Given the description of an element on the screen output the (x, y) to click on. 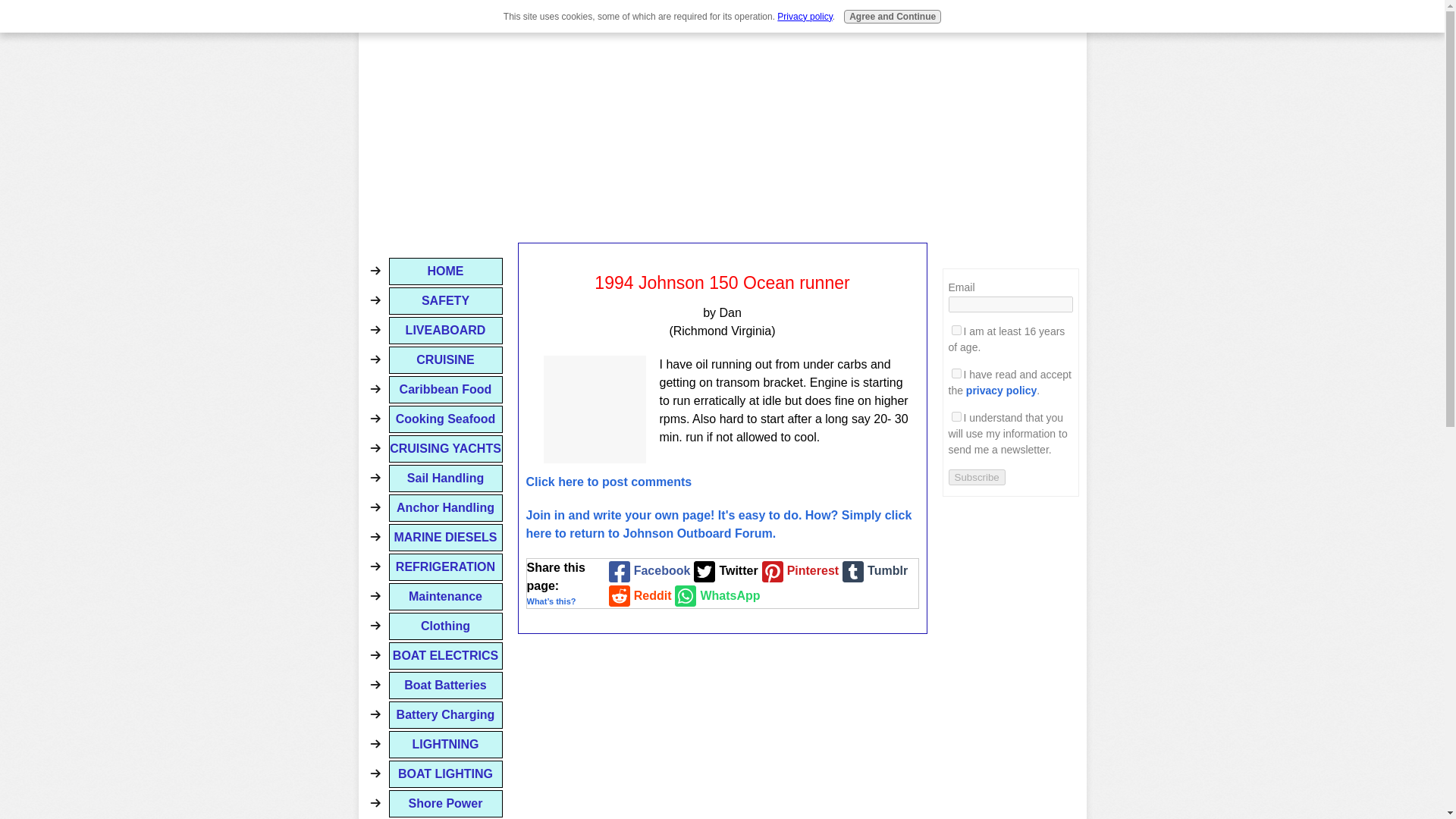
on (955, 416)
Twitter (723, 570)
BOAT ELECTRICS (445, 655)
on (955, 373)
CRUISINE (445, 359)
MARINE DIESELS (445, 537)
Maintenance (445, 596)
SAFETY (445, 300)
on (955, 329)
WhatsApp (715, 596)
